Given the description of an element on the screen output the (x, y) to click on. 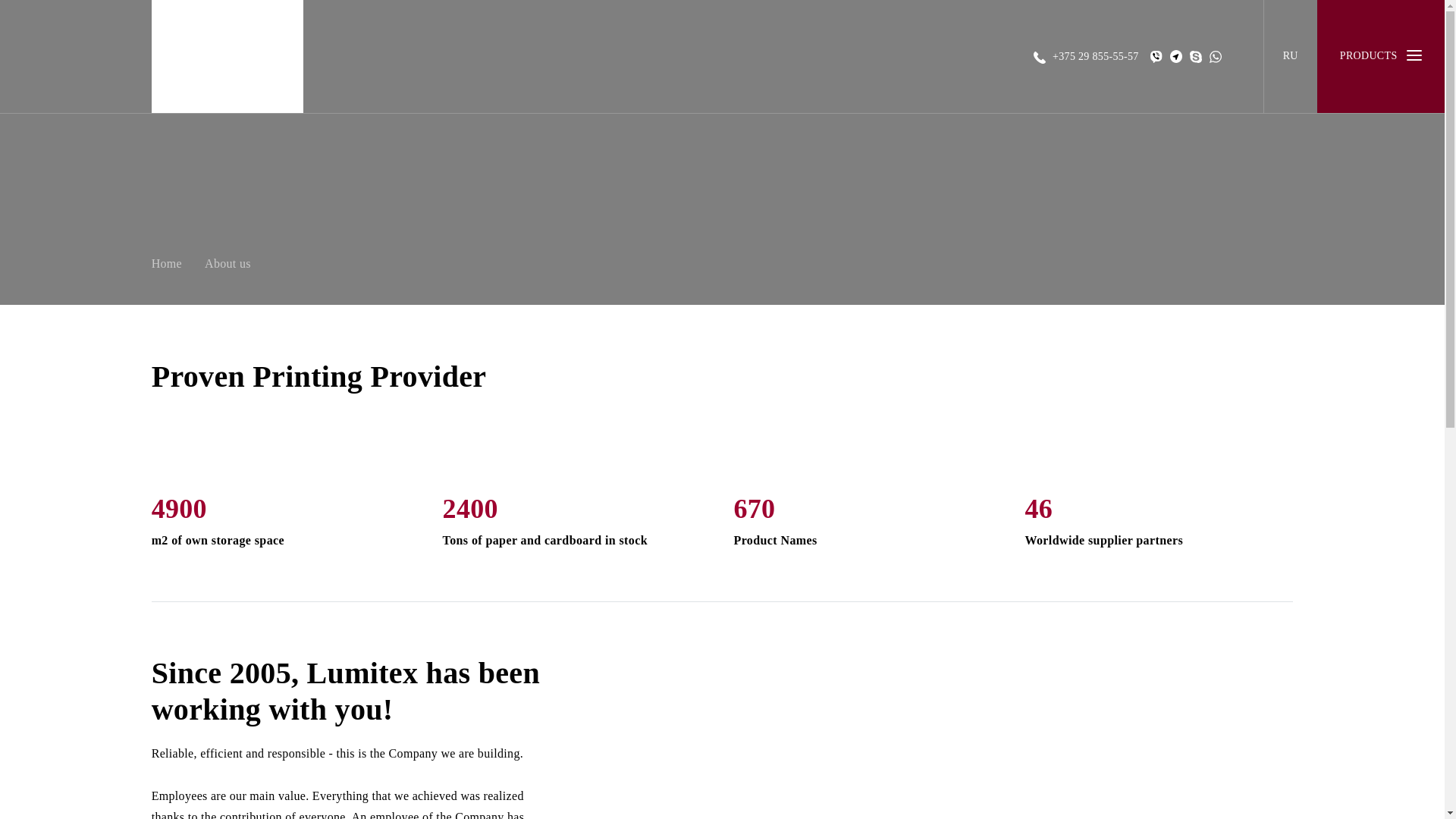
4900 (285, 509)
mts (1095, 54)
2400 (576, 509)
670 (867, 509)
46 (1158, 509)
